Given the description of an element on the screen output the (x, y) to click on. 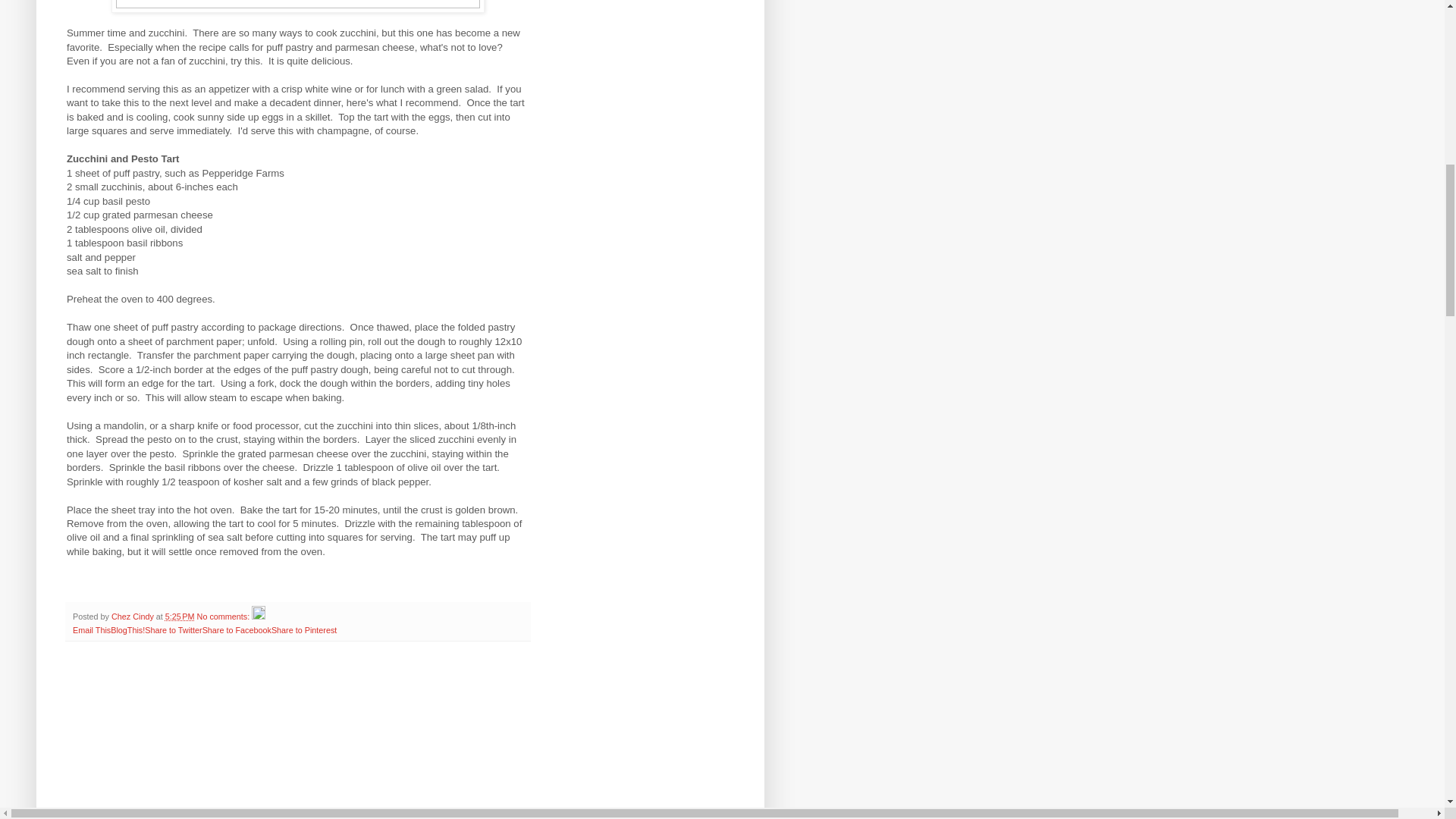
No comments: (223, 615)
Share to Pinterest (303, 629)
author profile (133, 615)
Share to Facebook (236, 629)
BlogThis! (127, 629)
BlogThis! (127, 629)
Email This (91, 629)
Edit Post (257, 615)
Share to Facebook (236, 629)
Email This (91, 629)
Advertisement (297, 739)
permanent link (180, 615)
Chez Cindy (133, 615)
Share to Twitter (173, 629)
